Given the description of an element on the screen output the (x, y) to click on. 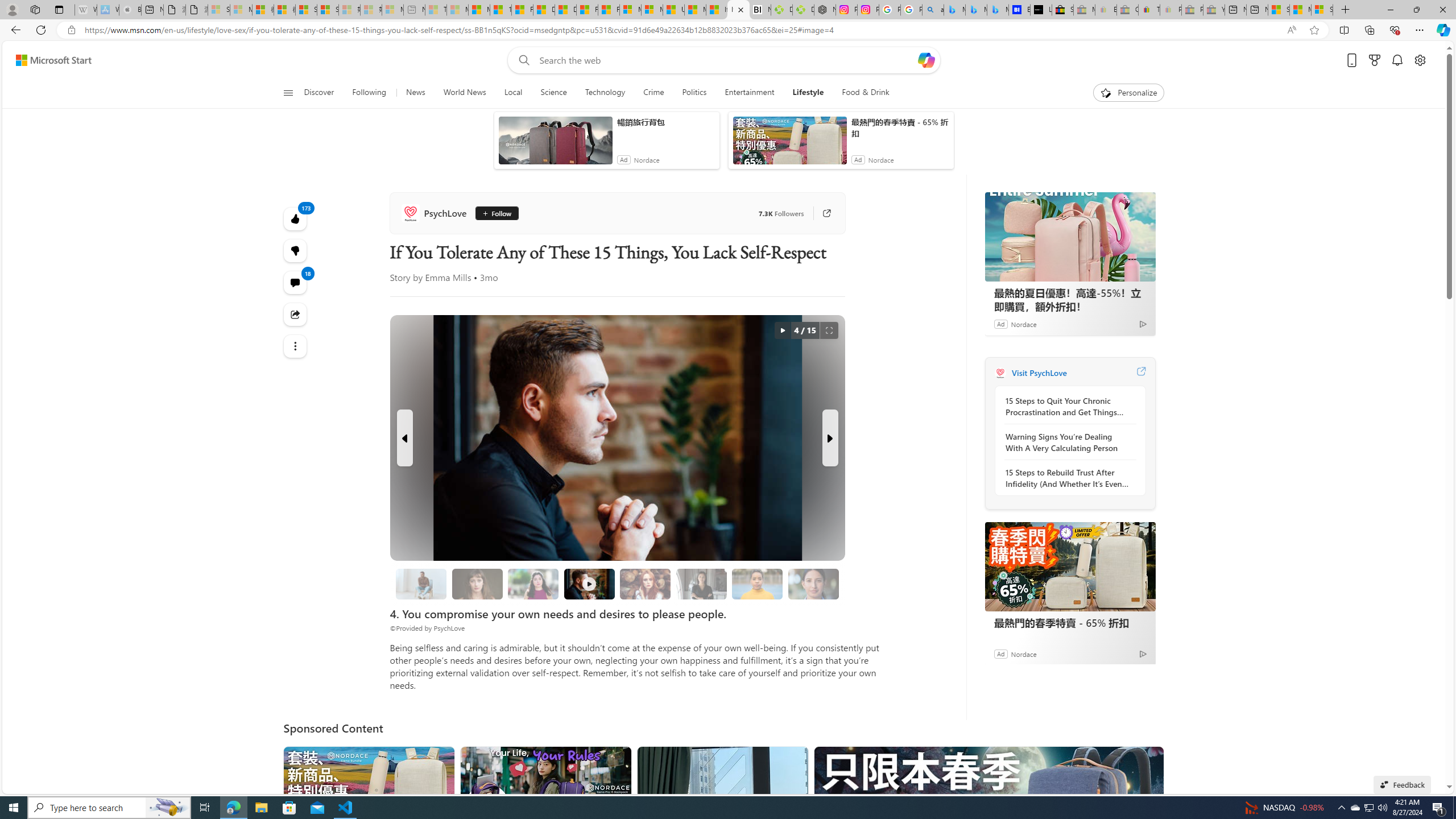
Follow (496, 213)
8. Surround yourself with solution-oriented people. (701, 583)
Drinking tea every day is proven to delay biological aging (565, 9)
